Given the description of an element on the screen output the (x, y) to click on. 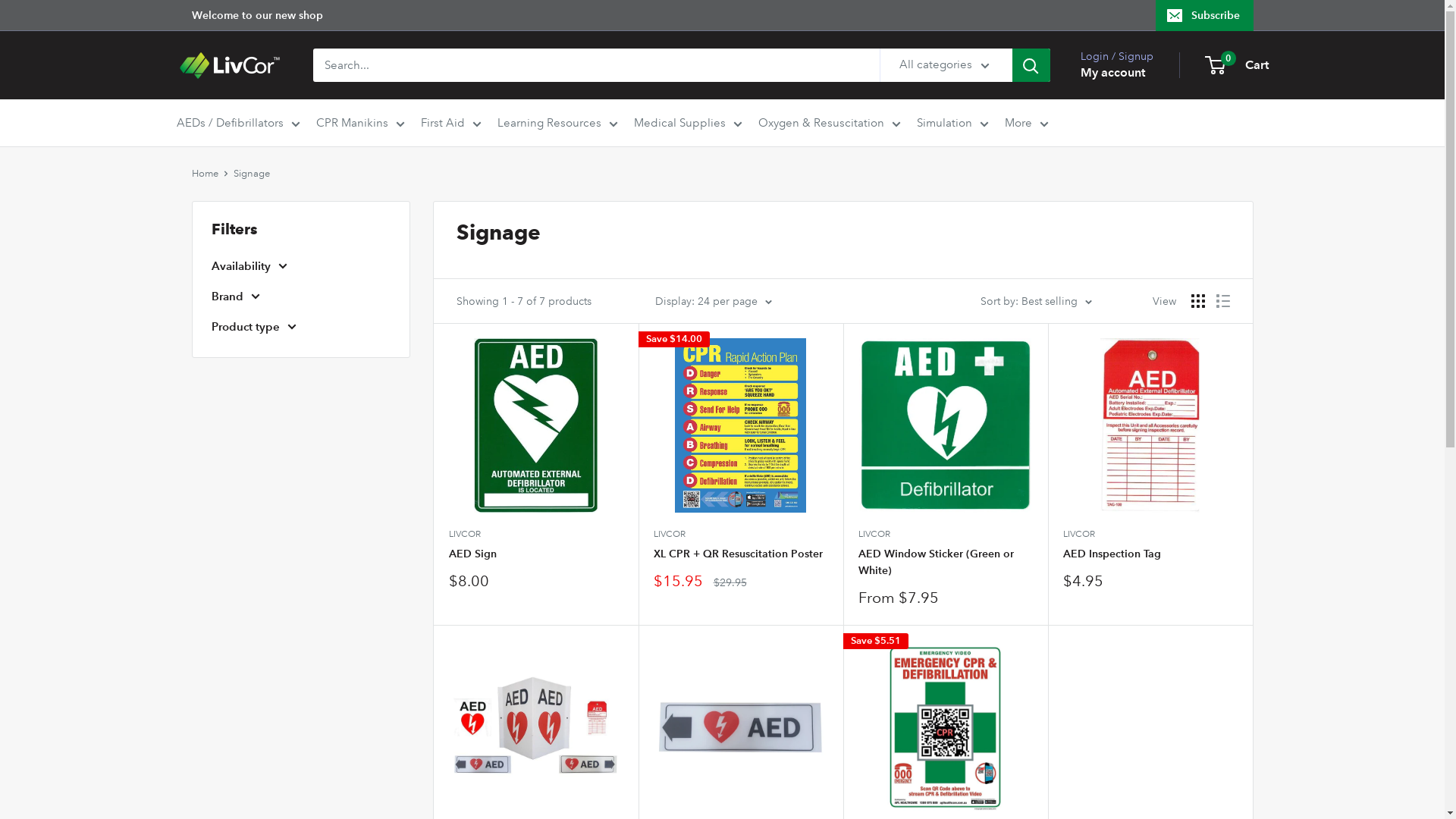
Shop | LivCor Australia Element type: text (228, 65)
XL CPR + QR Resuscitation Poster Element type: text (740, 554)
CPR Manikins Element type: text (359, 122)
LIVCOR Element type: text (535, 534)
Subscribe Element type: text (1204, 15)
AEDs / Defibrillators Element type: text (237, 122)
Medical Supplies Element type: text (687, 122)
Sort by: Best selling Element type: text (1035, 300)
AED Inspection Tag Element type: text (1150, 554)
Signage Element type: text (251, 173)
LIVCOR Element type: text (740, 534)
Display: 24 per page Element type: text (713, 300)
LIVCOR Element type: text (945, 534)
Product type Element type: text (299, 326)
AED Sign Element type: text (535, 554)
Simulation Element type: text (952, 122)
Home Element type: text (204, 173)
0
Cart Element type: text (1236, 64)
First Aid Element type: text (450, 122)
Brand Element type: text (299, 296)
Availability Element type: text (299, 265)
AED Window Sticker (Green or White) Element type: text (945, 562)
LIVCOR Element type: text (1150, 534)
Learning Resources Element type: text (557, 122)
More Element type: text (1026, 122)
Oxygen & Resuscitation Element type: text (829, 122)
My account Element type: text (1111, 72)
